Given the description of an element on the screen output the (x, y) to click on. 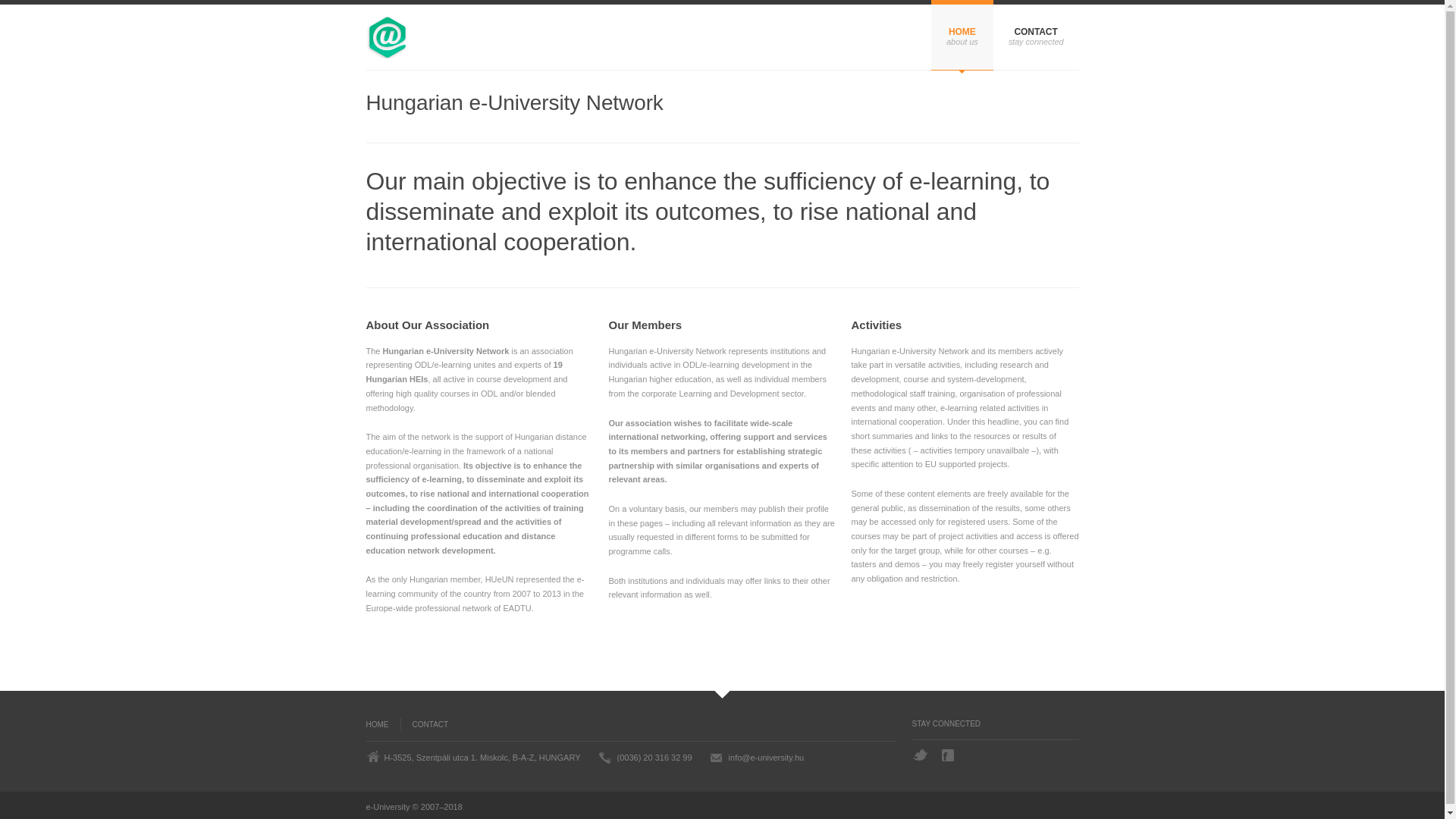
Facebook (949, 755)
CONTACT (424, 724)
HOME (381, 724)
Twitter (919, 754)
HOME (961, 35)
CONTACT (1035, 35)
